Given the description of an element on the screen output the (x, y) to click on. 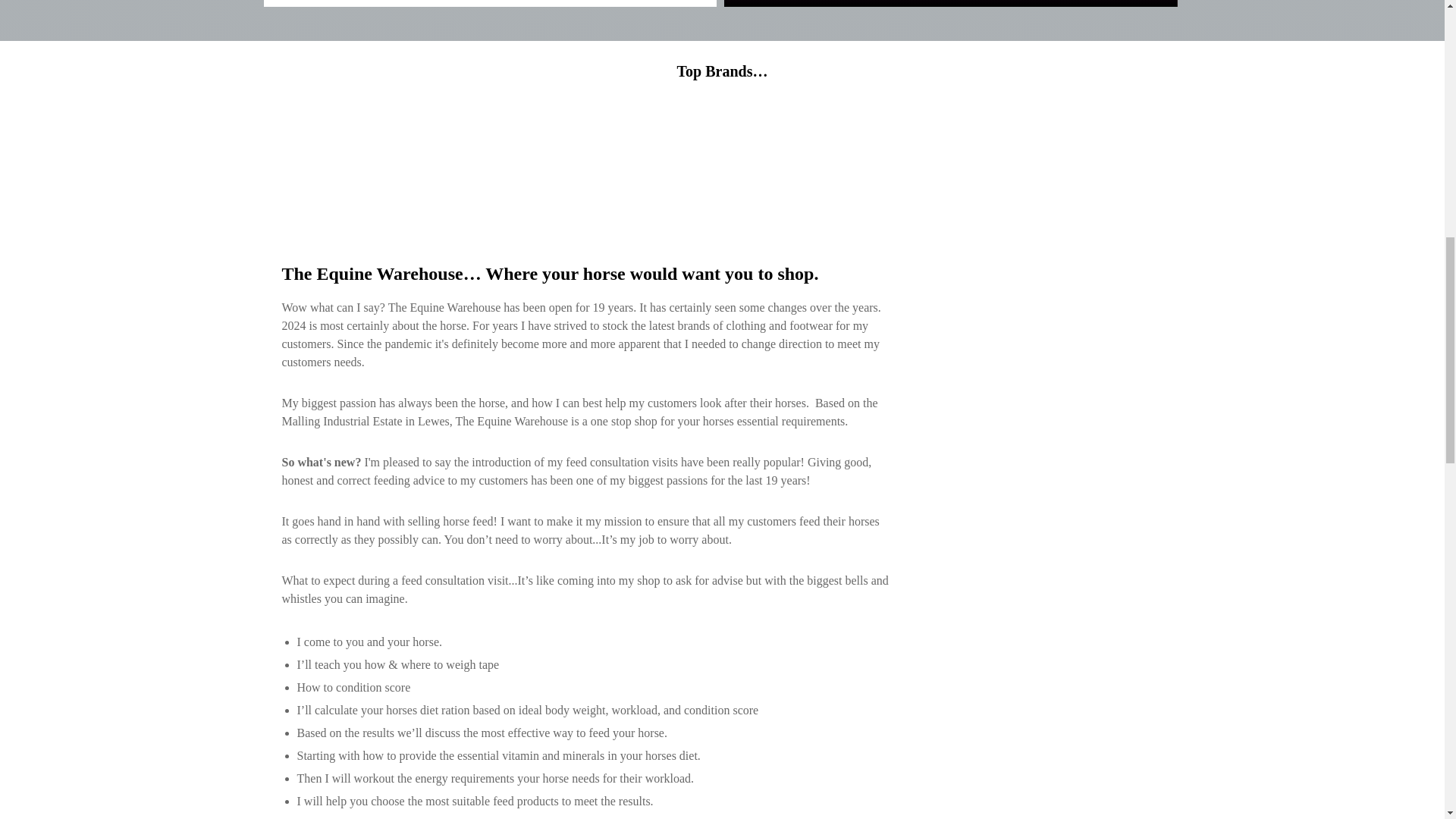
Spillers (399, 143)
Dodson-and-Horrell (1136, 143)
Honey-Chop-Horse-Feeds (1044, 143)
Falcon-Equine-Feeds (676, 143)
Allen-and-Page-Horse-Feeds (861, 143)
Simple-System-Horse-Feeds (307, 143)
Marksway-Horse-Hage (952, 143)
Dengie-Horse-Feeds (768, 143)
TopSpec (583, 143)
Saracen-Horse-Feeds (491, 143)
